Given the description of an element on the screen output the (x, y) to click on. 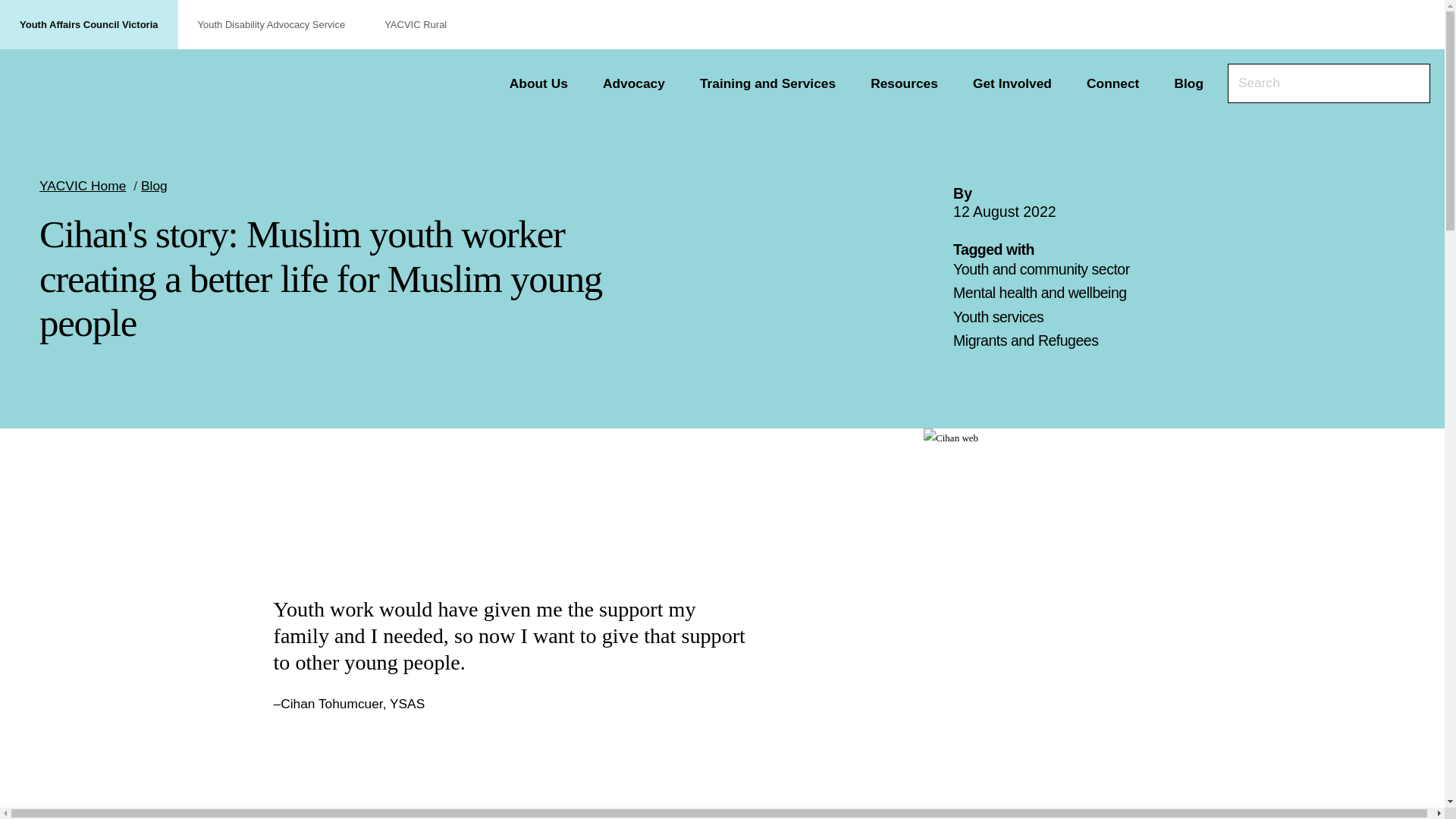
Youth Affairs Council Victoria (86, 86)
Advocacy (638, 83)
Resources (909, 83)
About Us (543, 83)
YACVIC Rural (415, 24)
Get Involved (1017, 83)
Youth Disability Advocacy Service (271, 24)
Youth Affairs Council Victoria (88, 24)
Youth Affairs Council Victoria (86, 86)
Training and Services (772, 83)
